Given the description of an element on the screen output the (x, y) to click on. 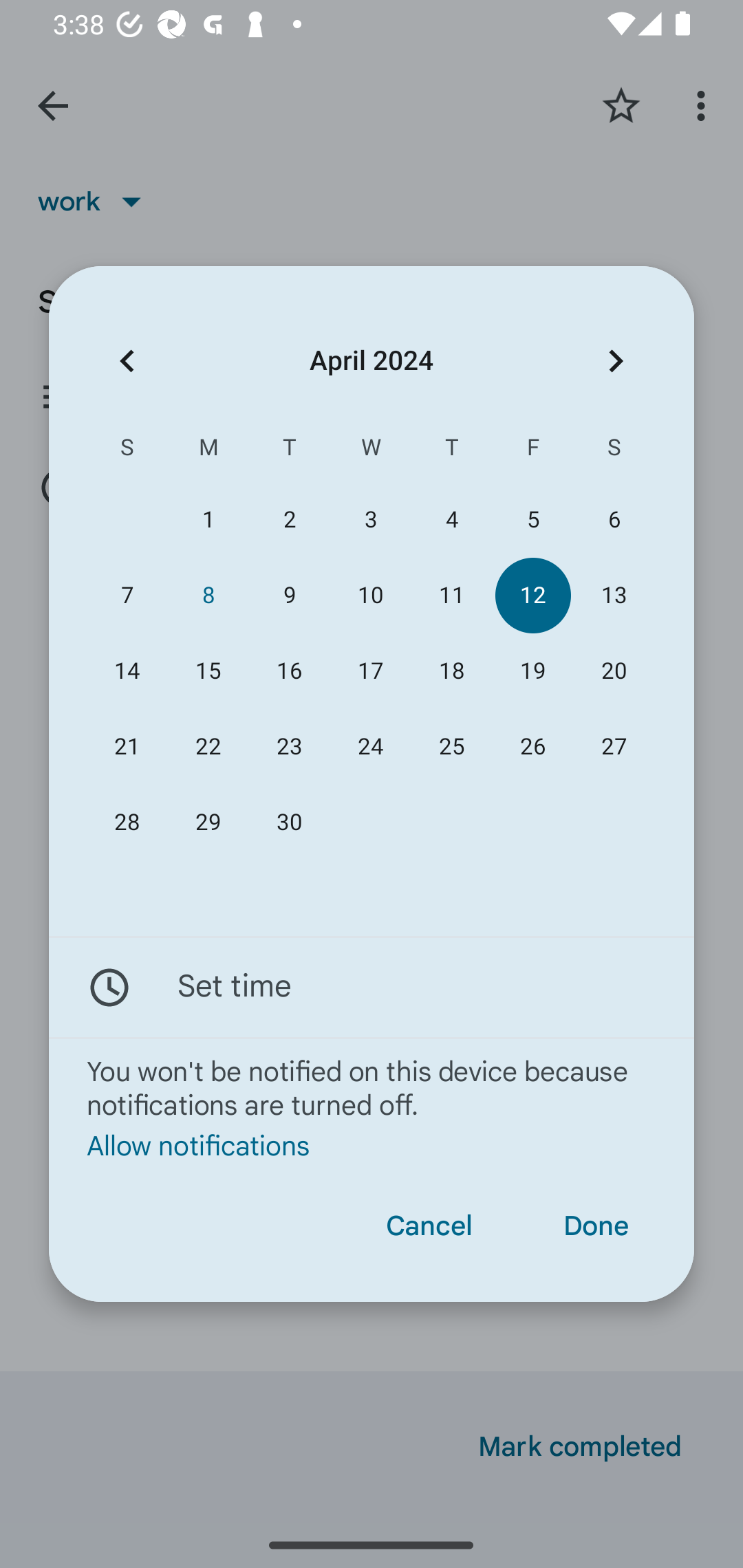
Previous month (126, 360)
Next month (615, 360)
1 01 April 2024 (207, 519)
2 02 April 2024 (288, 519)
3 03 April 2024 (370, 519)
4 04 April 2024 (451, 519)
5 05 April 2024 (532, 519)
6 06 April 2024 (613, 519)
7 07 April 2024 (126, 595)
8 08 April 2024 (207, 595)
9 09 April 2024 (288, 595)
10 10 April 2024 (370, 595)
11 11 April 2024 (451, 595)
12 12 April 2024 (532, 595)
13 13 April 2024 (613, 595)
14 14 April 2024 (126, 670)
15 15 April 2024 (207, 670)
16 16 April 2024 (288, 670)
17 17 April 2024 (370, 670)
18 18 April 2024 (451, 670)
19 19 April 2024 (532, 670)
20 20 April 2024 (613, 670)
21 21 April 2024 (126, 746)
22 22 April 2024 (207, 746)
23 23 April 2024 (288, 746)
24 24 April 2024 (370, 746)
25 25 April 2024 (451, 746)
26 26 April 2024 (532, 746)
27 27 April 2024 (613, 746)
28 28 April 2024 (126, 822)
29 29 April 2024 (207, 822)
30 30 April 2024 (288, 822)
Set time (371, 986)
Allow notifications (371, 1145)
Cancel (429, 1225)
Done (595, 1225)
